Given the description of an element on the screen output the (x, y) to click on. 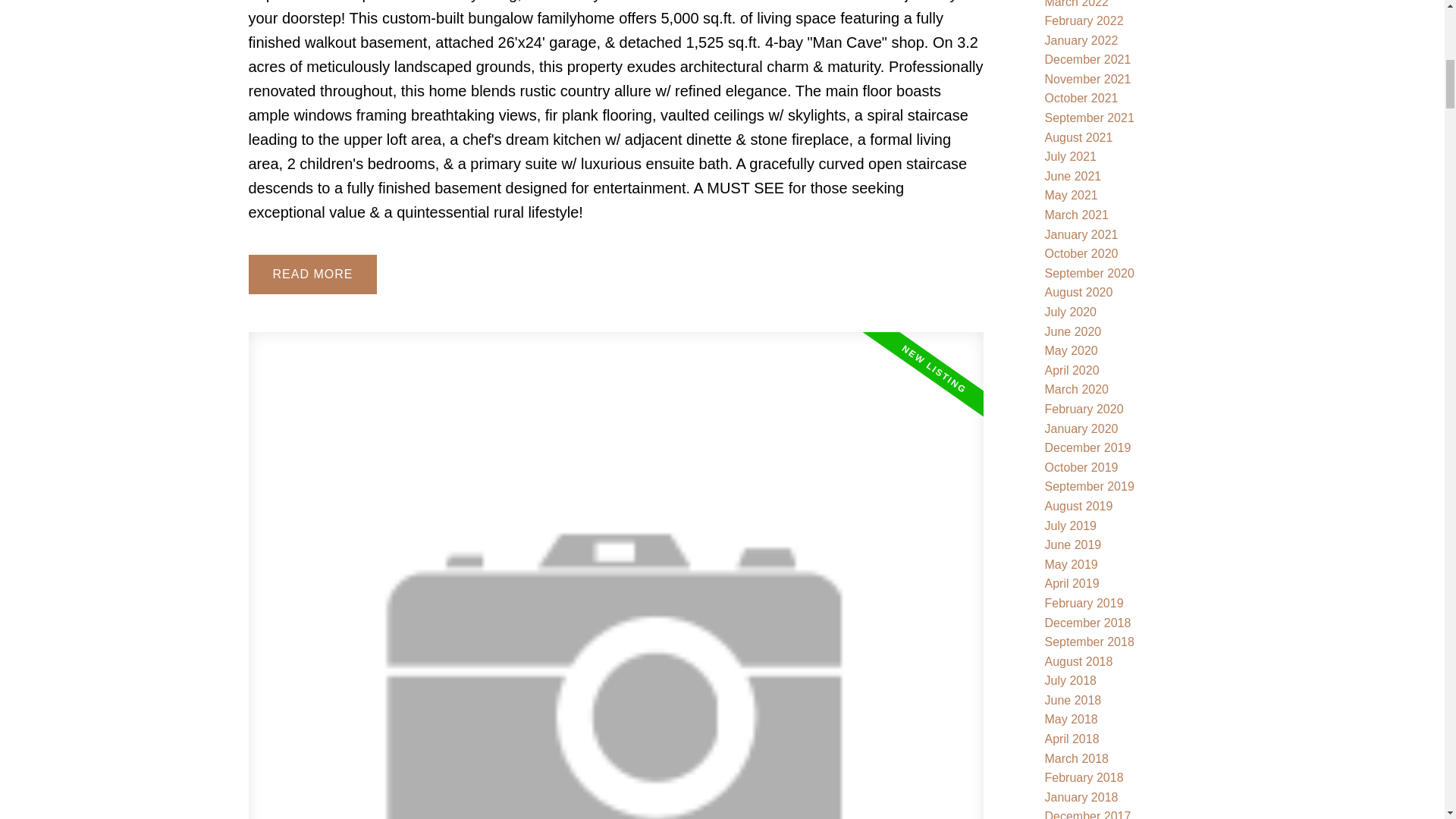
READ (312, 274)
